Given the description of an element on the screen output the (x, y) to click on. 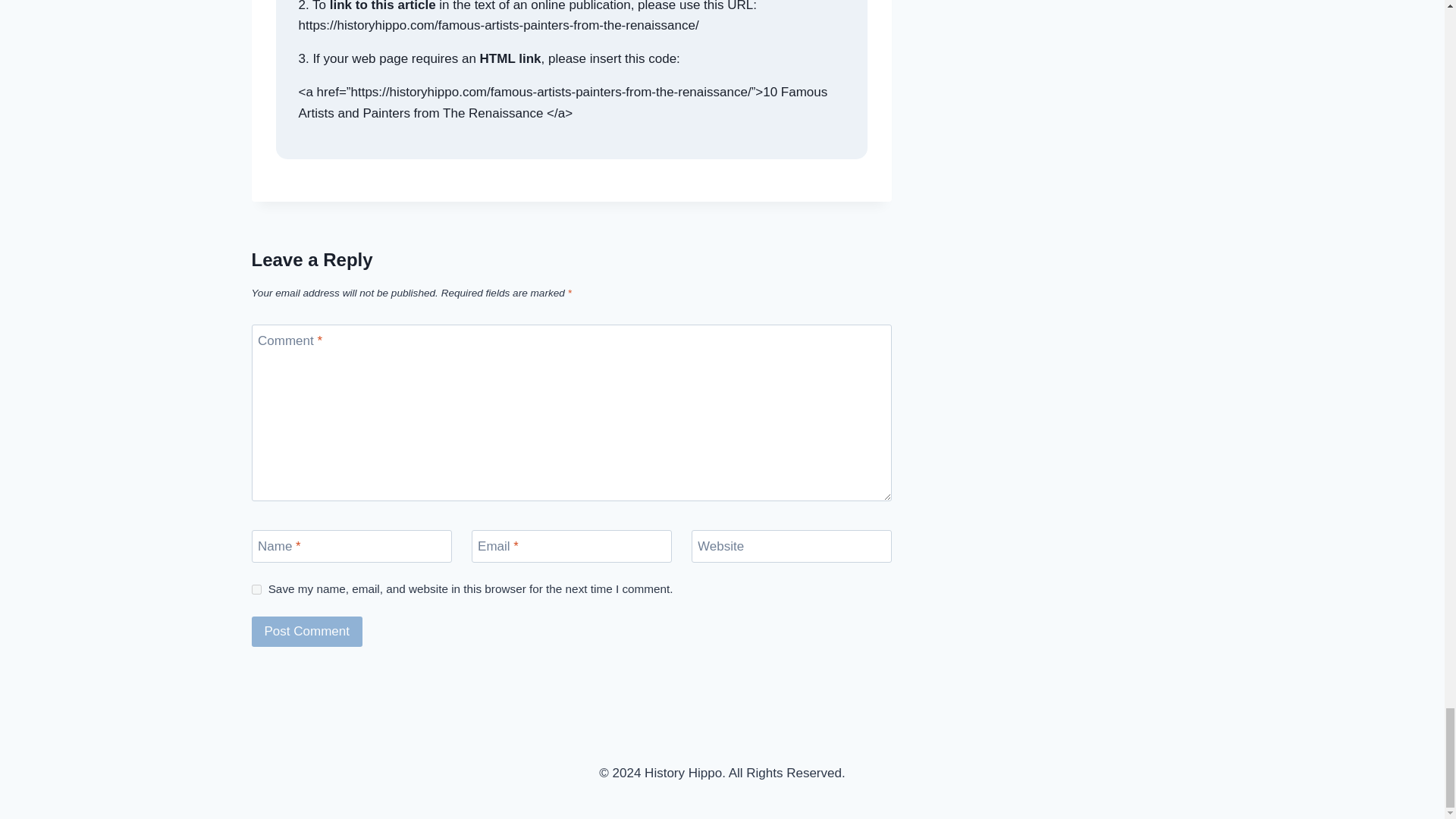
Post Comment (306, 631)
Post Comment (306, 631)
yes (256, 589)
